Given the description of an element on the screen output the (x, y) to click on. 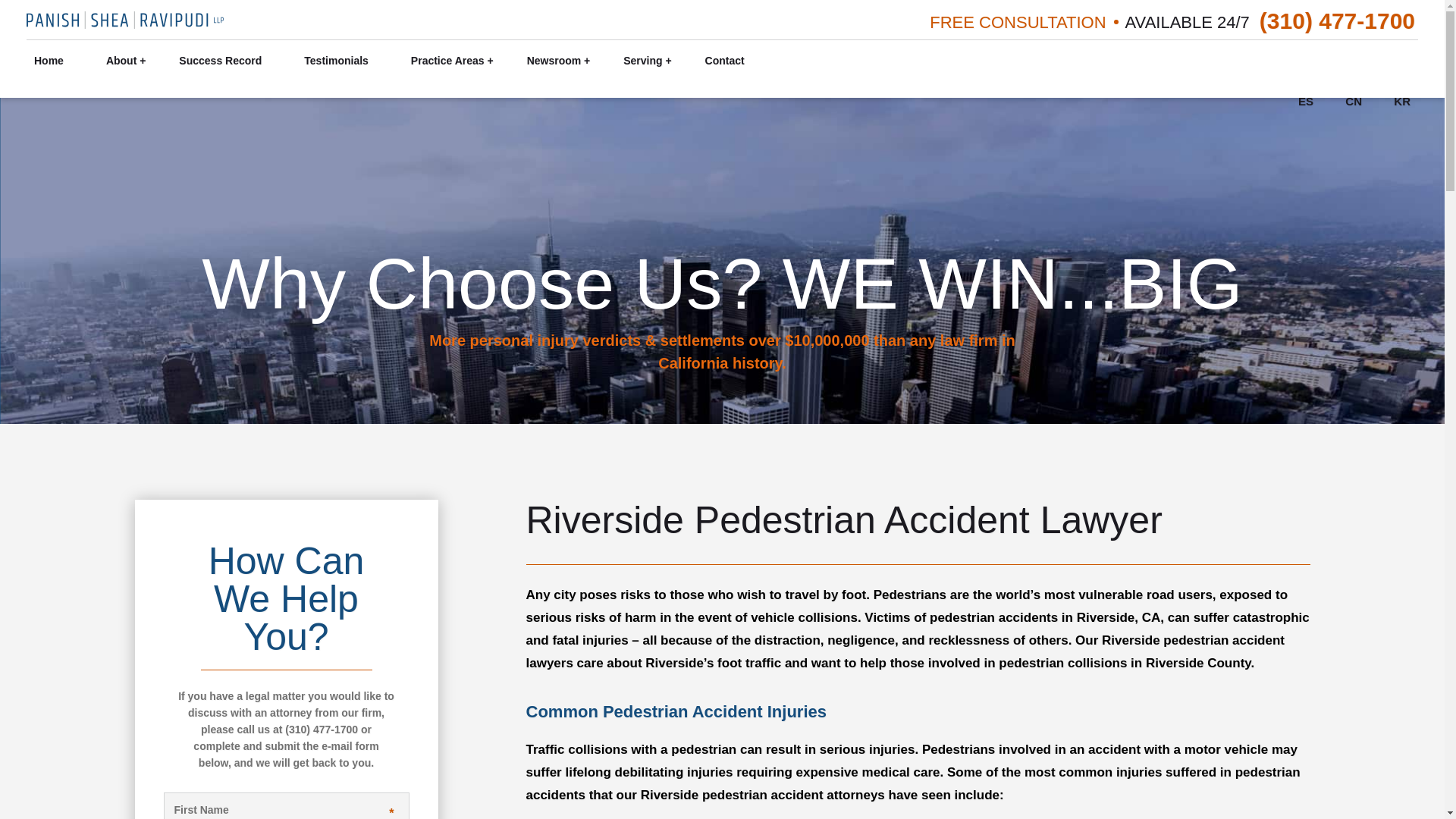
Success Record (220, 60)
Serving (642, 60)
KR (1401, 101)
Home (48, 60)
FREE CONSULTATION (1017, 22)
Practice Areas (447, 60)
About (121, 60)
Testimonials (336, 60)
ES (1305, 101)
CN (1353, 101)
Newsroom (553, 60)
